Given the description of an element on the screen output the (x, y) to click on. 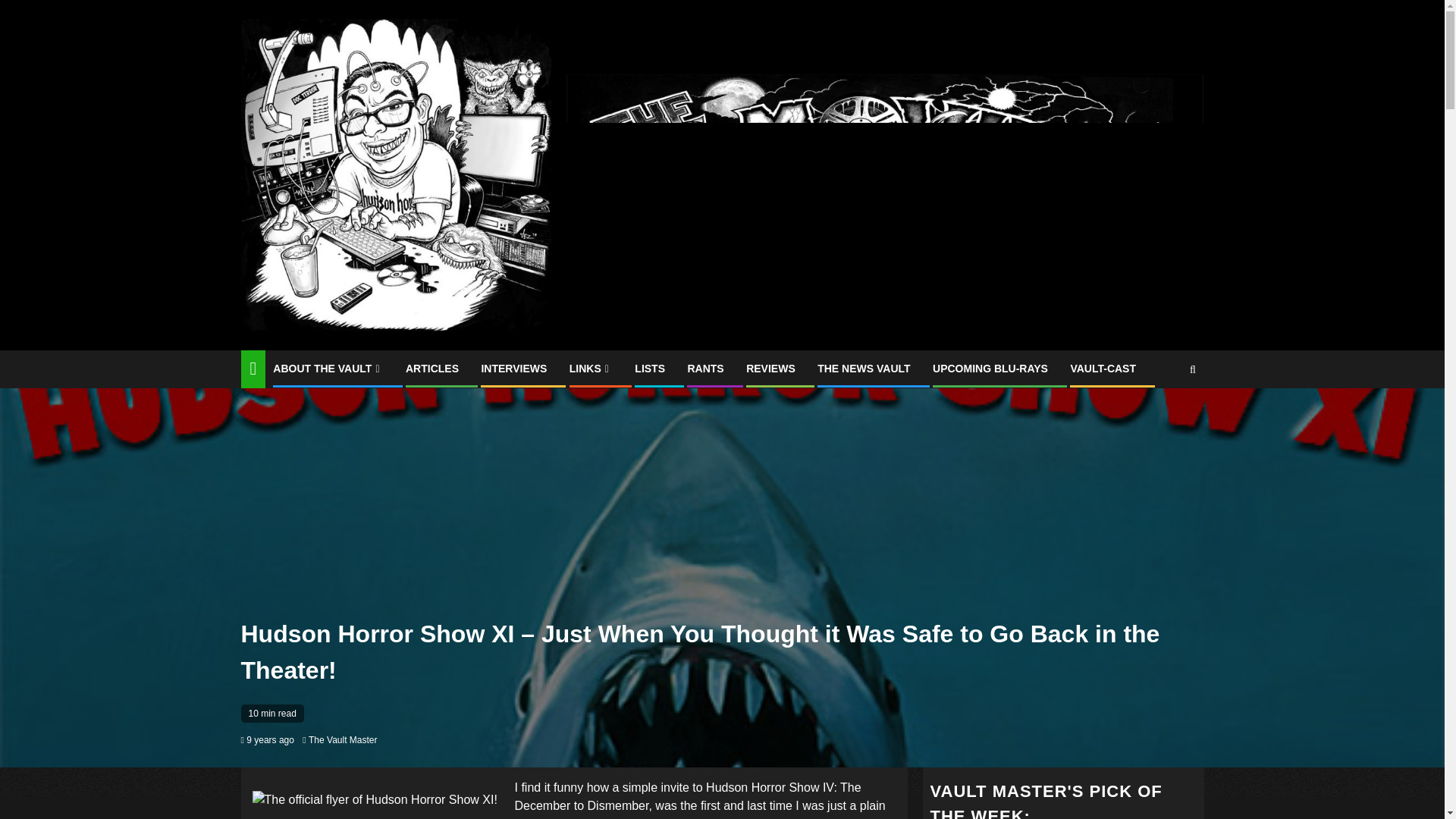
LINKS (590, 368)
Search (1163, 415)
RANTS (705, 368)
UPCOMING BLU-RAYS (990, 368)
INTERVIEWS (513, 368)
THE NEWS VAULT (863, 368)
The Vault Master (342, 739)
Search (1192, 369)
REVIEWS (769, 368)
ARTICLES (432, 368)
VAULT-CAST (1102, 368)
ABOUT THE VAULT (327, 368)
LISTS (649, 368)
